Given the description of an element on the screen output the (x, y) to click on. 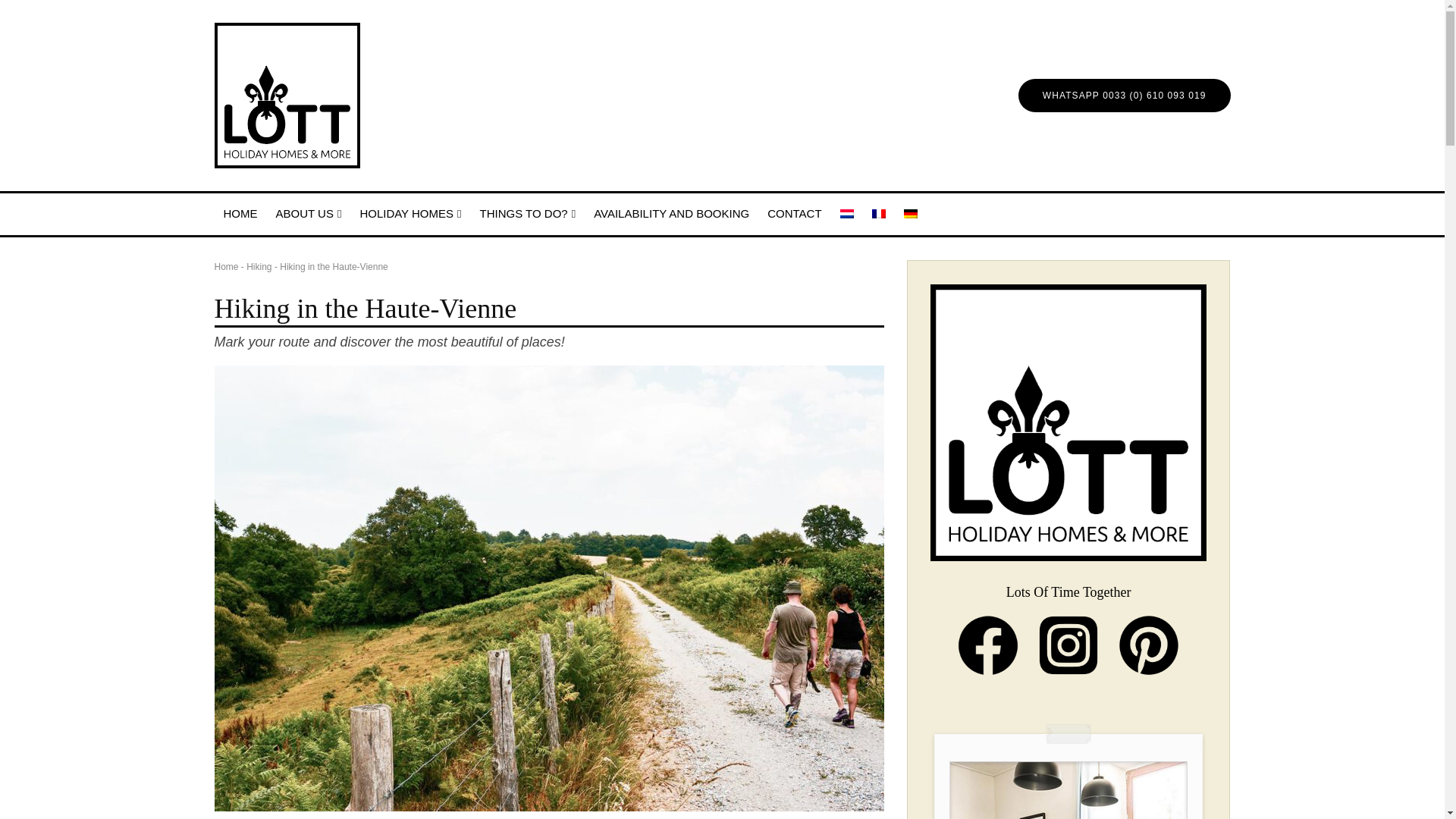
HOME (240, 214)
HOLIDAY HOMES (410, 214)
ABOUT US (308, 214)
THINGS TO DO? (527, 214)
